Given the description of an element on the screen output the (x, y) to click on. 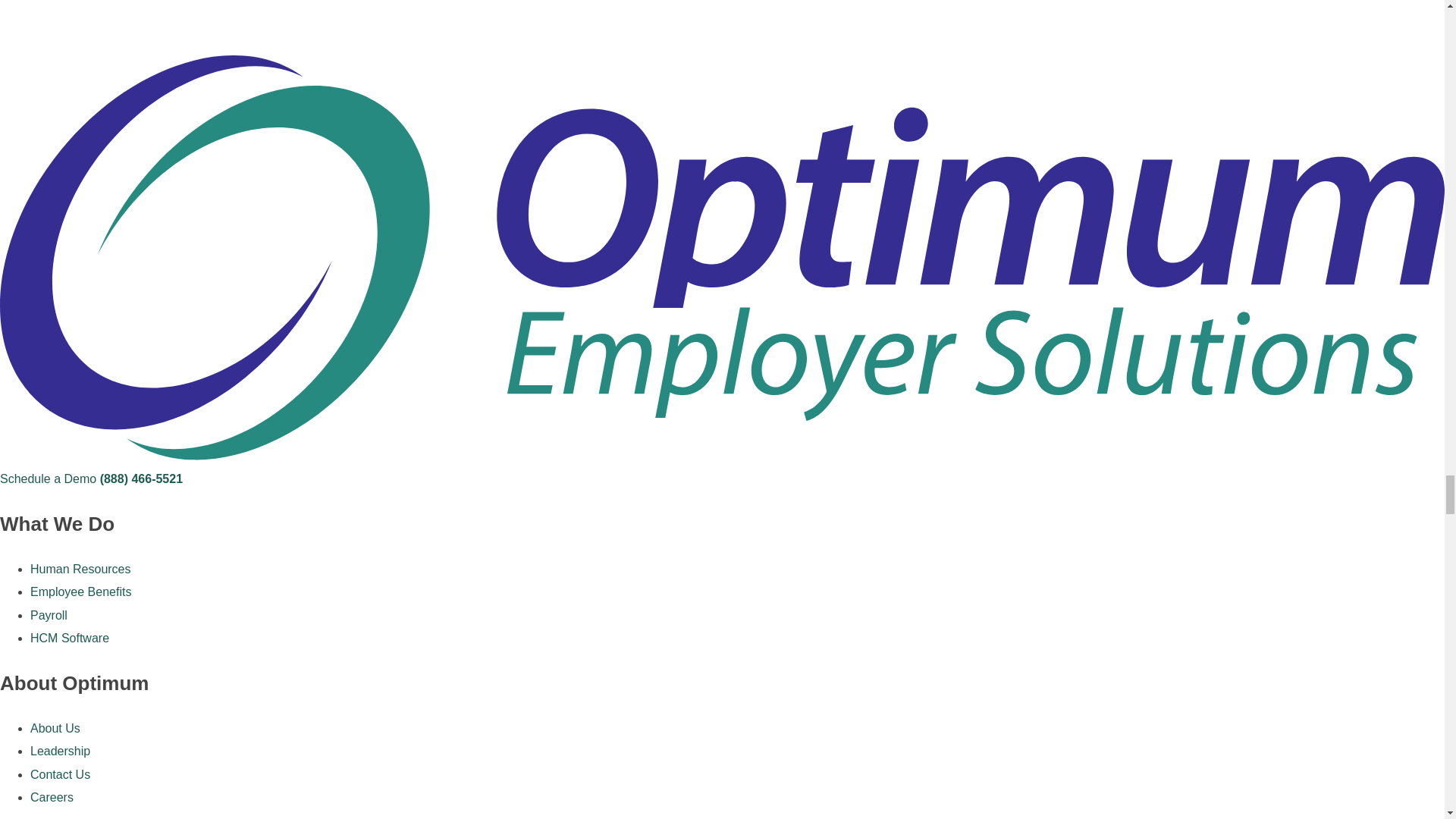
Human Resources (80, 568)
Employee Benefits (80, 591)
HCM Software (69, 637)
Payroll (48, 615)
Schedule a Demo (48, 478)
